Given the description of an element on the screen output the (x, y) to click on. 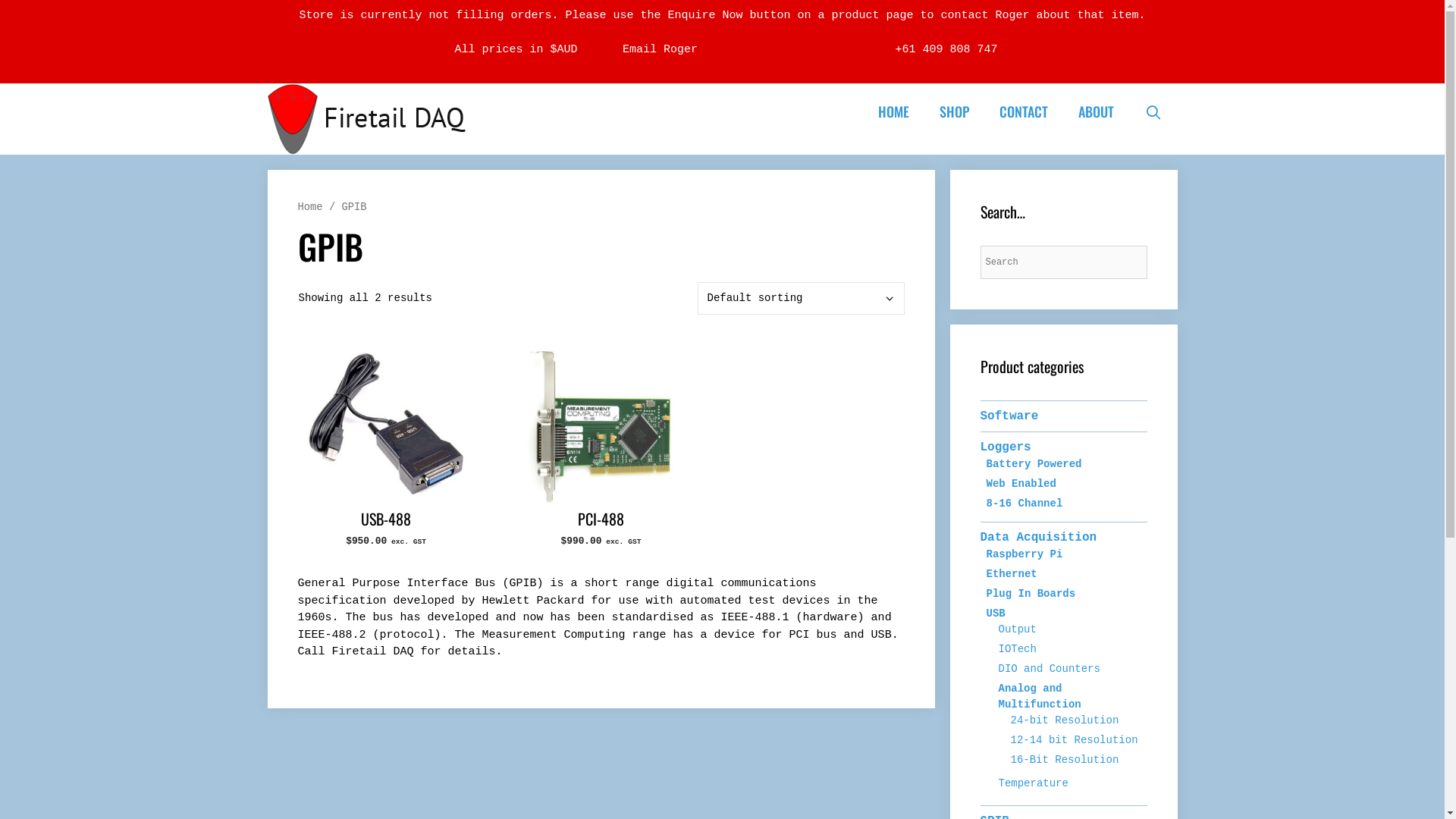
24-bit Resolution Element type: text (1064, 720)
SHOP Element type: text (954, 111)
Data Acquisition Element type: text (1037, 537)
CONTACT Element type: text (1023, 111)
Software Element type: text (1008, 416)
PCI-488
$990.00 Element type: text (600, 450)
Web Enabled Element type: text (1020, 483)
IOTech Element type: text (1016, 649)
Ethernet Element type: text (1010, 573)
Plug In Boards Element type: text (1030, 593)
Email Roger Element type: text (659, 49)
HOME Element type: text (893, 111)
Loggers Element type: text (1004, 447)
12-14 bit Resolution Element type: text (1073, 740)
USB-488
$950.00 Element type: text (385, 450)
Battery Powered Element type: text (1033, 464)
ABOUT Element type: text (1096, 111)
USB Element type: text (994, 613)
16-Bit Resolution Element type: text (1064, 759)
Analog and Multifunction Element type: text (1038, 696)
8-16 Channel Element type: text (1023, 503)
Output Element type: text (1016, 629)
Home Element type: text (309, 207)
Raspberry Pi Element type: text (1023, 554)
DIO and Counters Element type: text (1048, 668)
Temperature Element type: text (1032, 783)
